Given the description of an element on the screen output the (x, y) to click on. 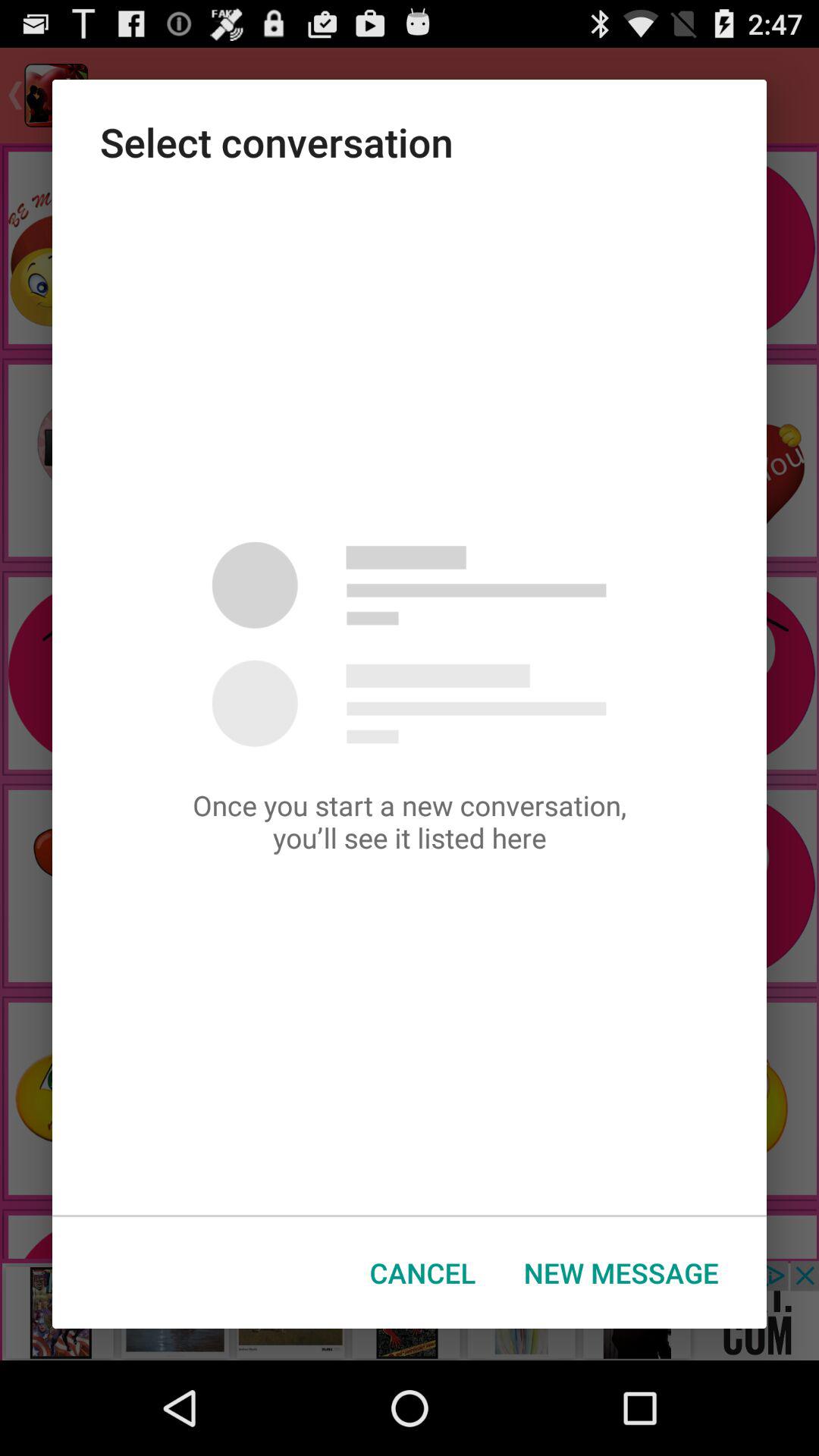
turn on the item to the right of the cancel icon (620, 1272)
